Given the description of an element on the screen output the (x, y) to click on. 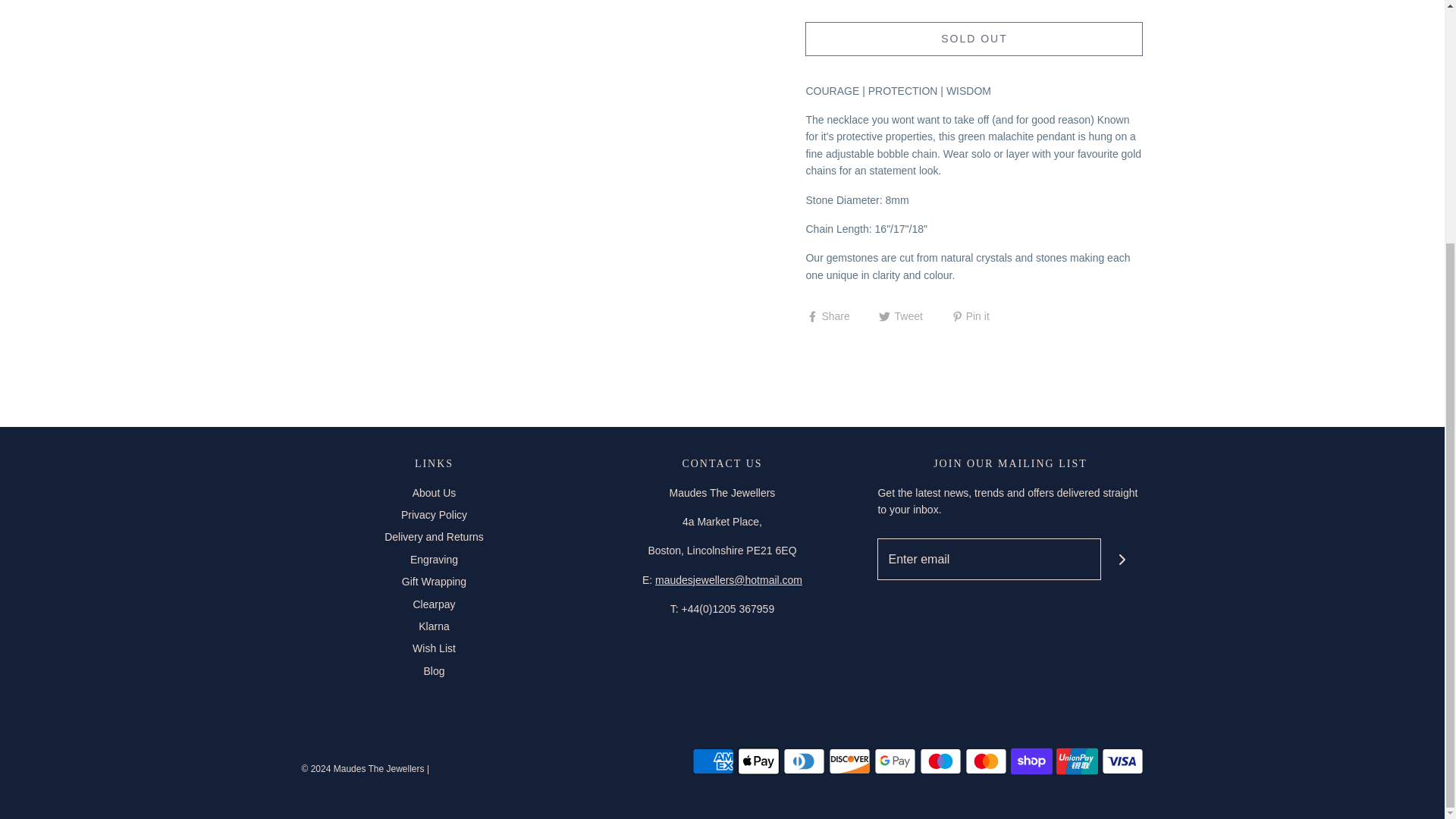
Union Pay (1076, 761)
Maestro (939, 761)
Discover (848, 761)
Mastercard (984, 761)
Visa (1121, 761)
Google Pay (894, 761)
American Express (712, 761)
Apple Pay (757, 761)
Shop Pay (1030, 761)
Diners Club (803, 761)
